Given the description of an element on the screen output the (x, y) to click on. 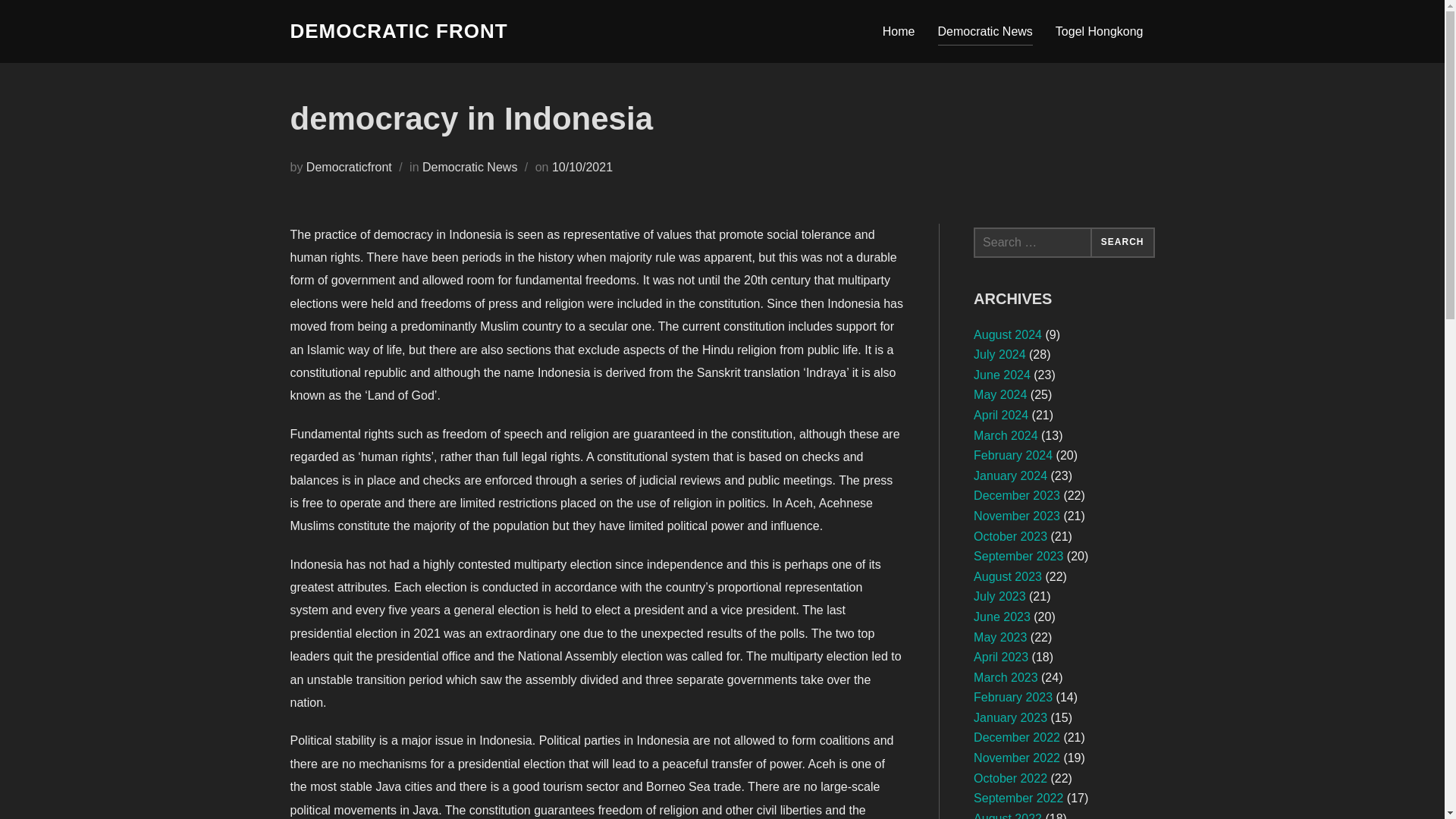
October 2023 (1010, 535)
April 2024 (1000, 414)
May 2024 (1000, 394)
December 2023 (1016, 495)
Democraticfront (348, 166)
March 2023 (1006, 676)
June 2024 (1002, 374)
Democratic News (984, 30)
November 2022 (1016, 757)
August 2024 (1008, 334)
